Given the description of an element on the screen output the (x, y) to click on. 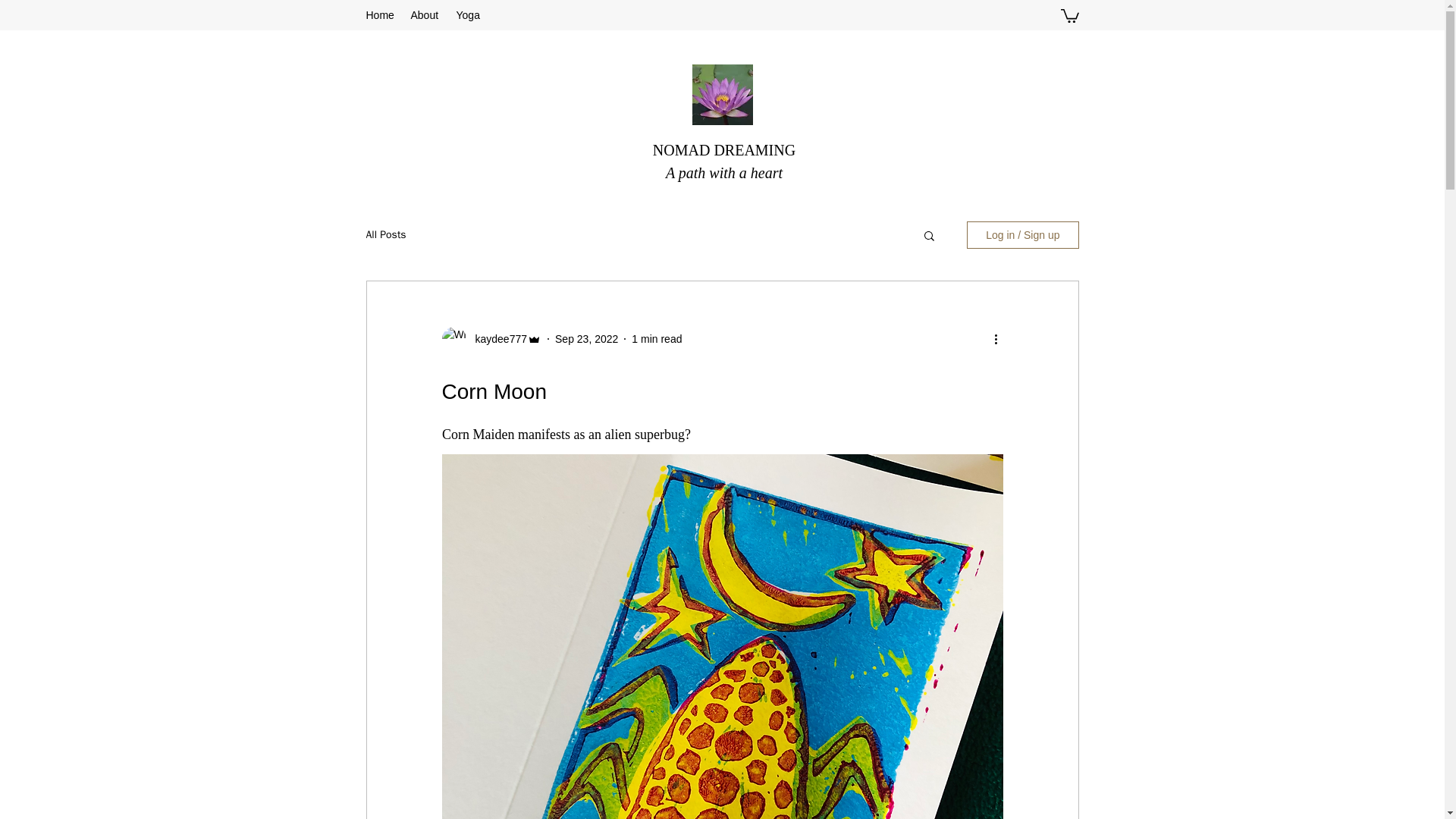
About (425, 15)
Home (380, 15)
kaydee777 (496, 339)
Yoga (467, 15)
All Posts (385, 234)
1 min read (656, 338)
Sep 23, 2022 (585, 338)
